Given the description of an element on the screen output the (x, y) to click on. 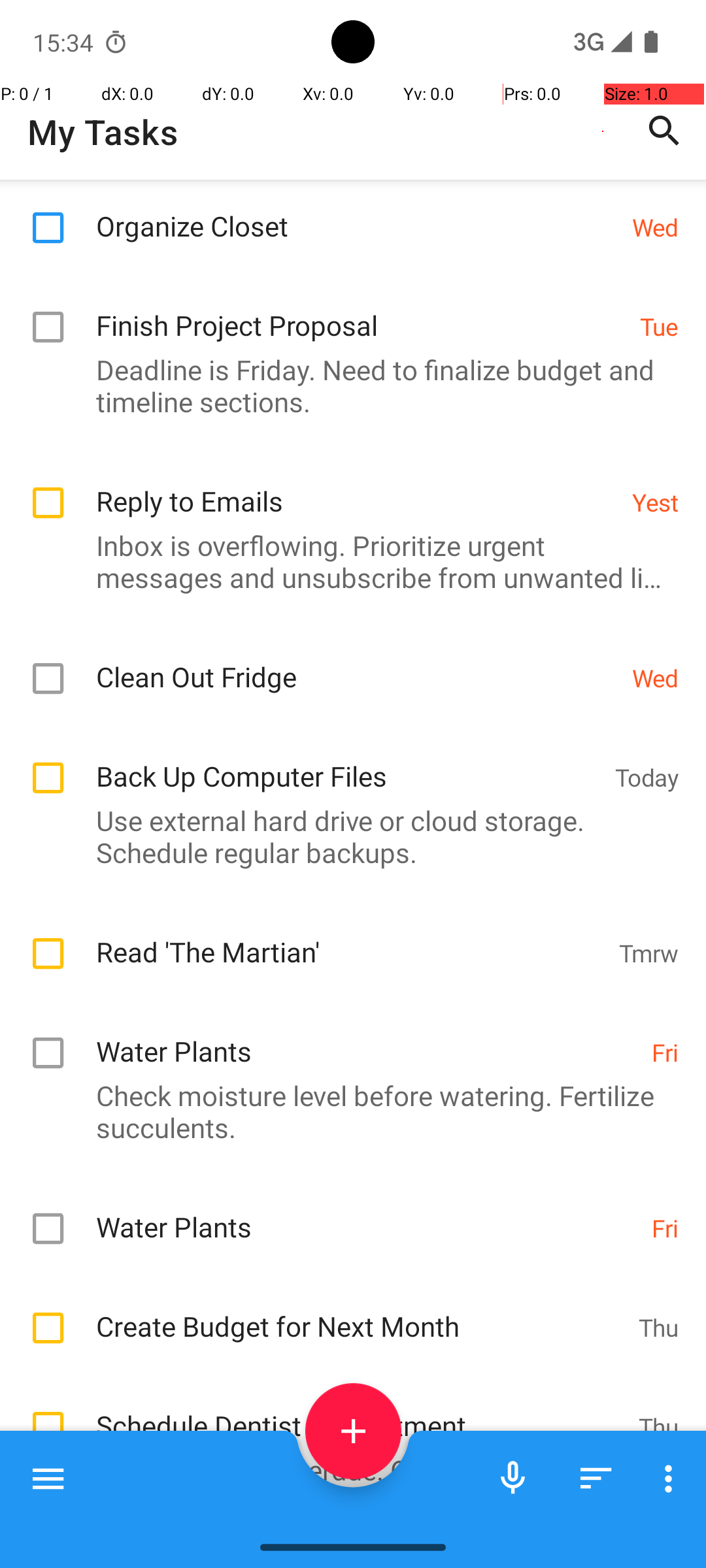
Complete project proposal Element type: android.widget.TextView (346, 1524)
